Given the description of an element on the screen output the (x, y) to click on. 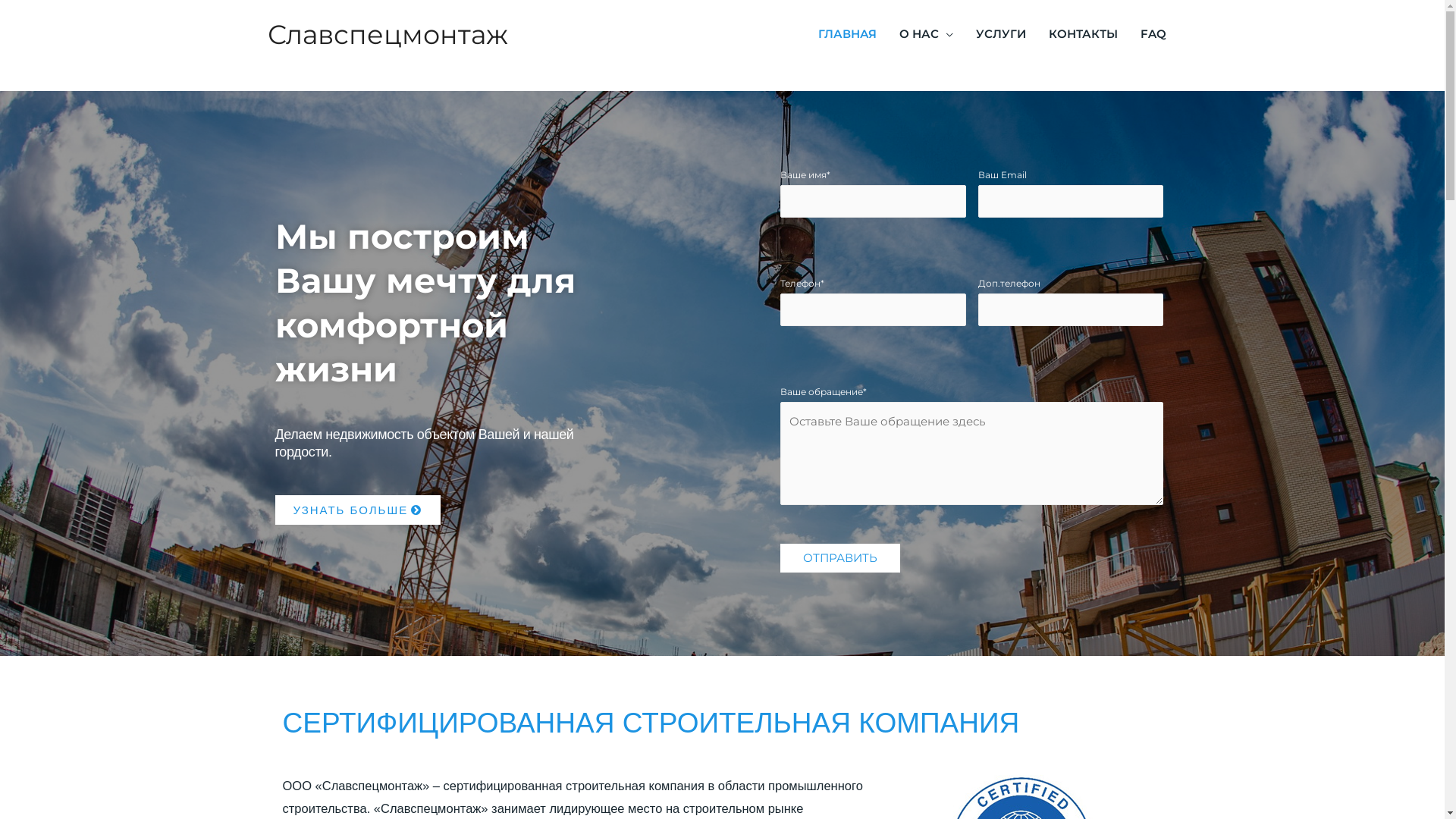
FAQ Element type: text (1152, 33)
